Given the description of an element on the screen output the (x, y) to click on. 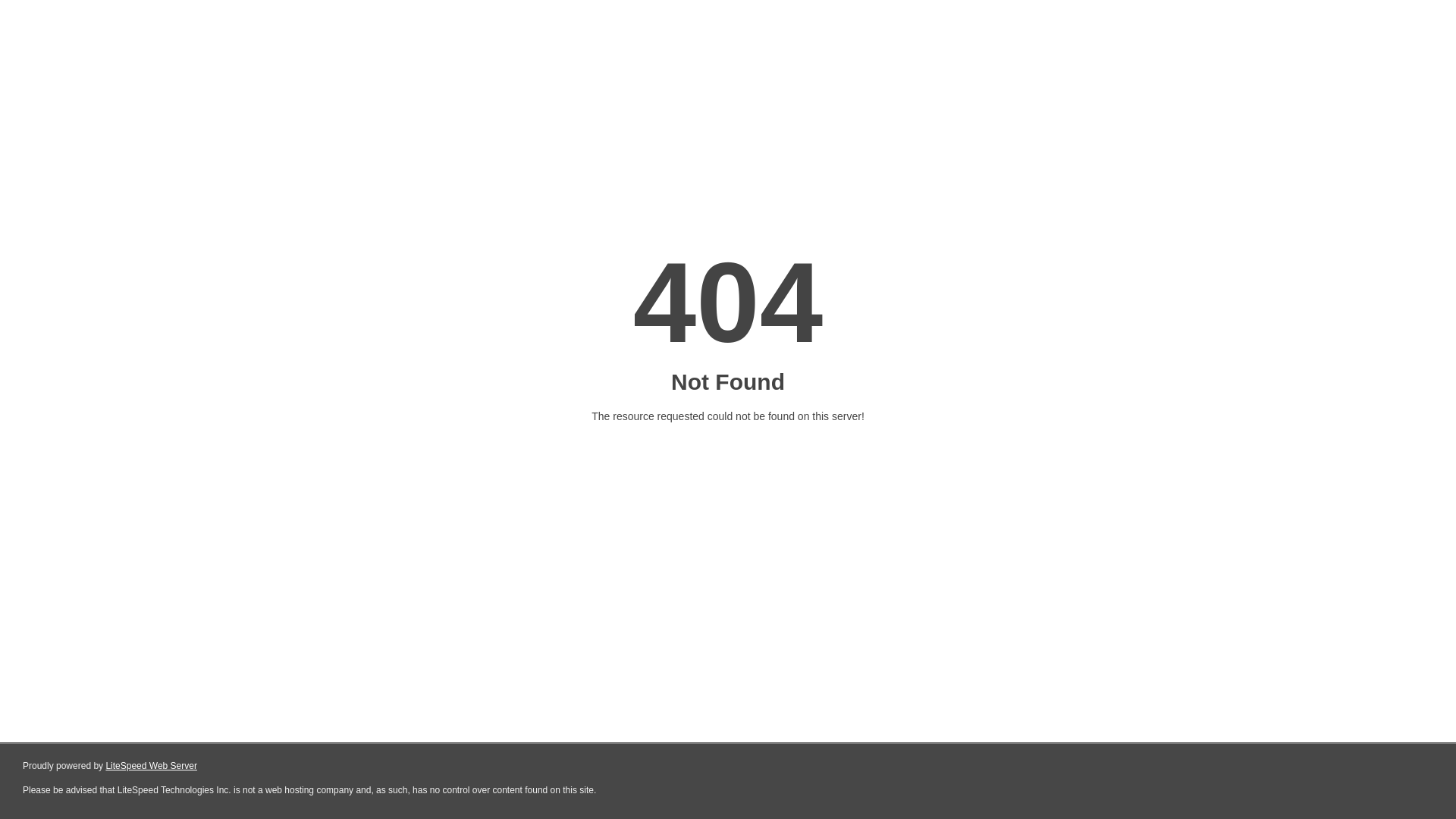
LiteSpeed Web Server Element type: text (151, 765)
